Given the description of an element on the screen output the (x, y) to click on. 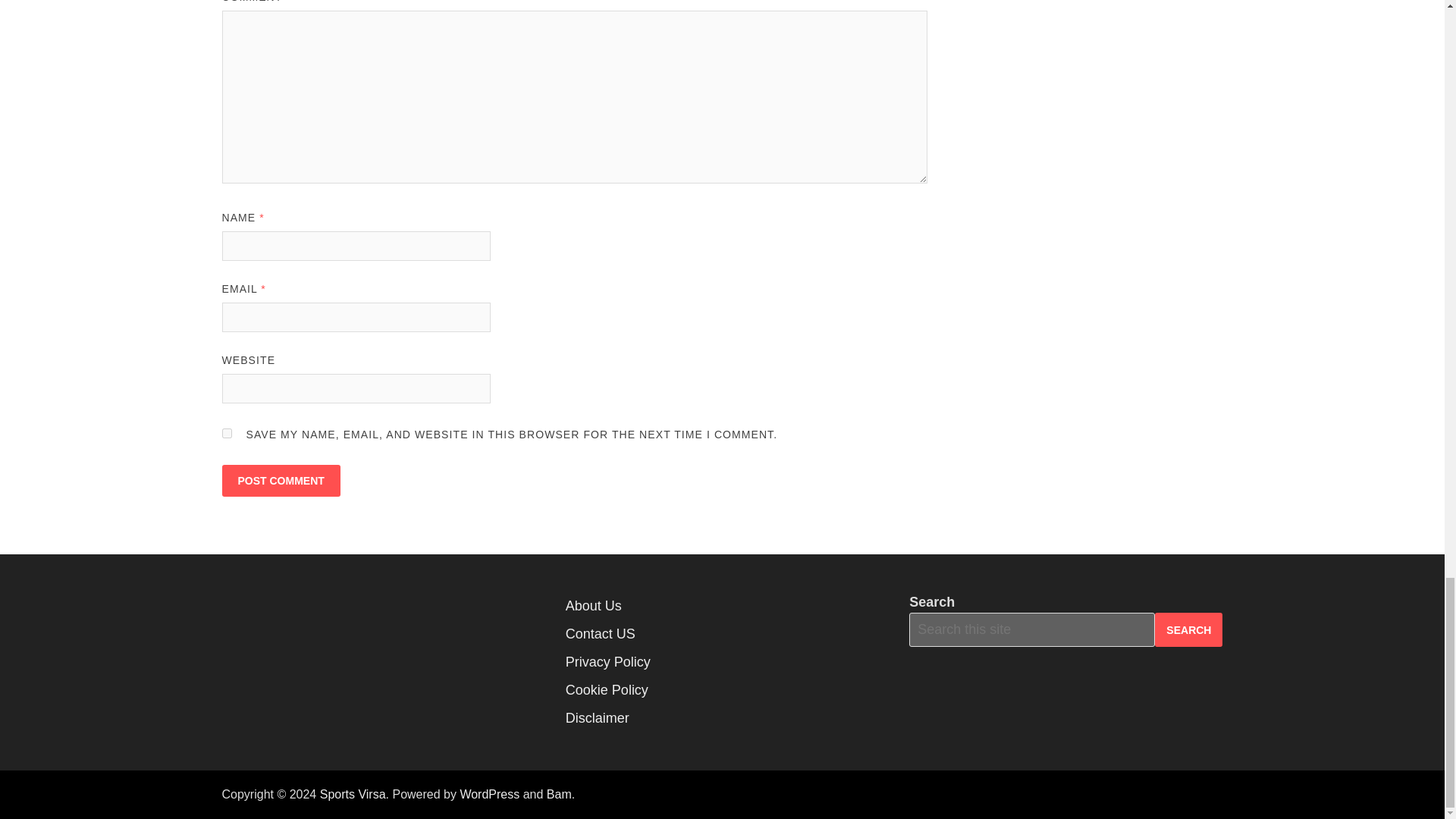
Sports Virsa (352, 793)
Post Comment (280, 480)
yes (226, 433)
Post Comment (280, 480)
